Given the description of an element on the screen output the (x, y) to click on. 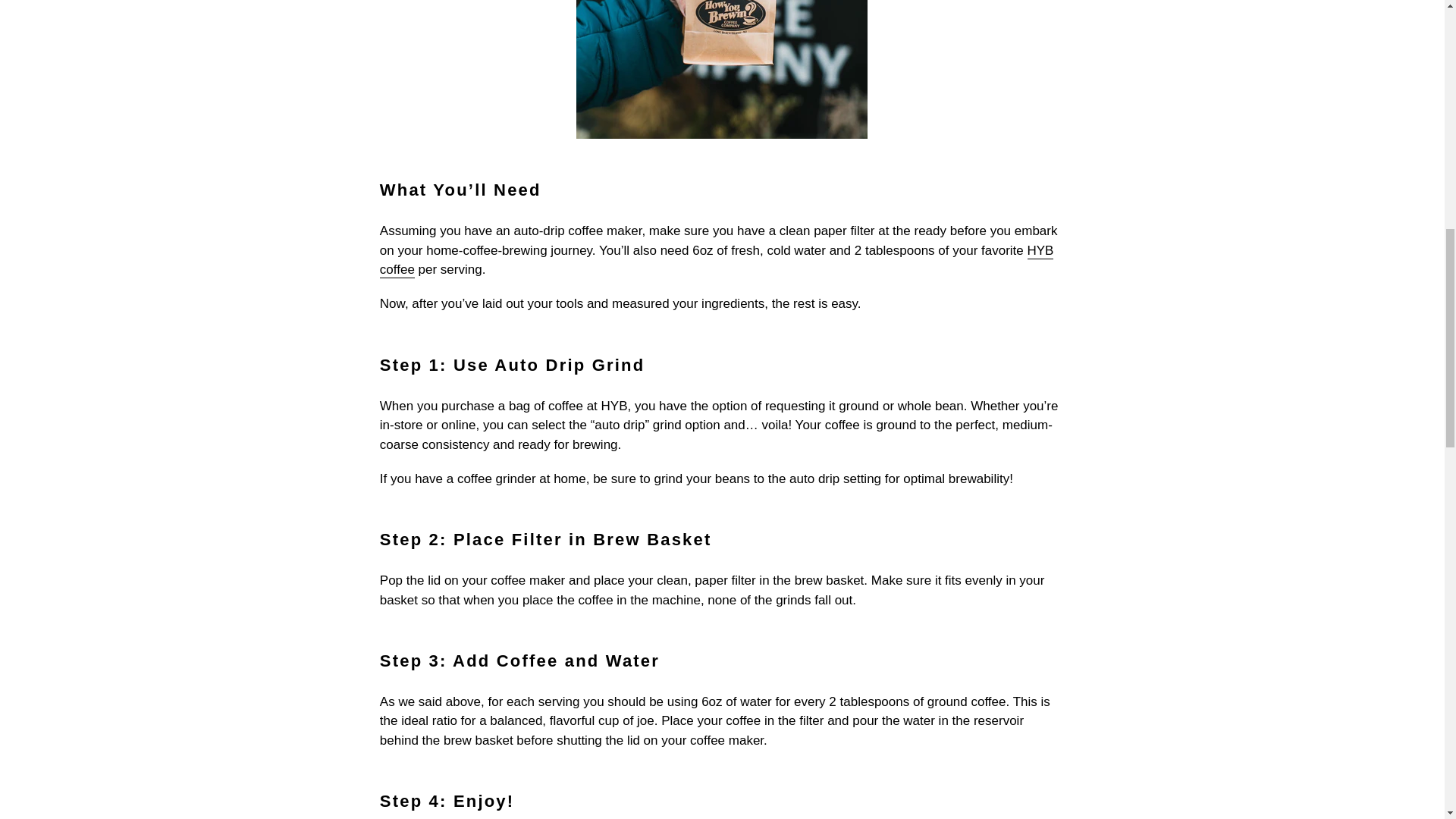
How You Brewin coffee  (717, 261)
